Given the description of an element on the screen output the (x, y) to click on. 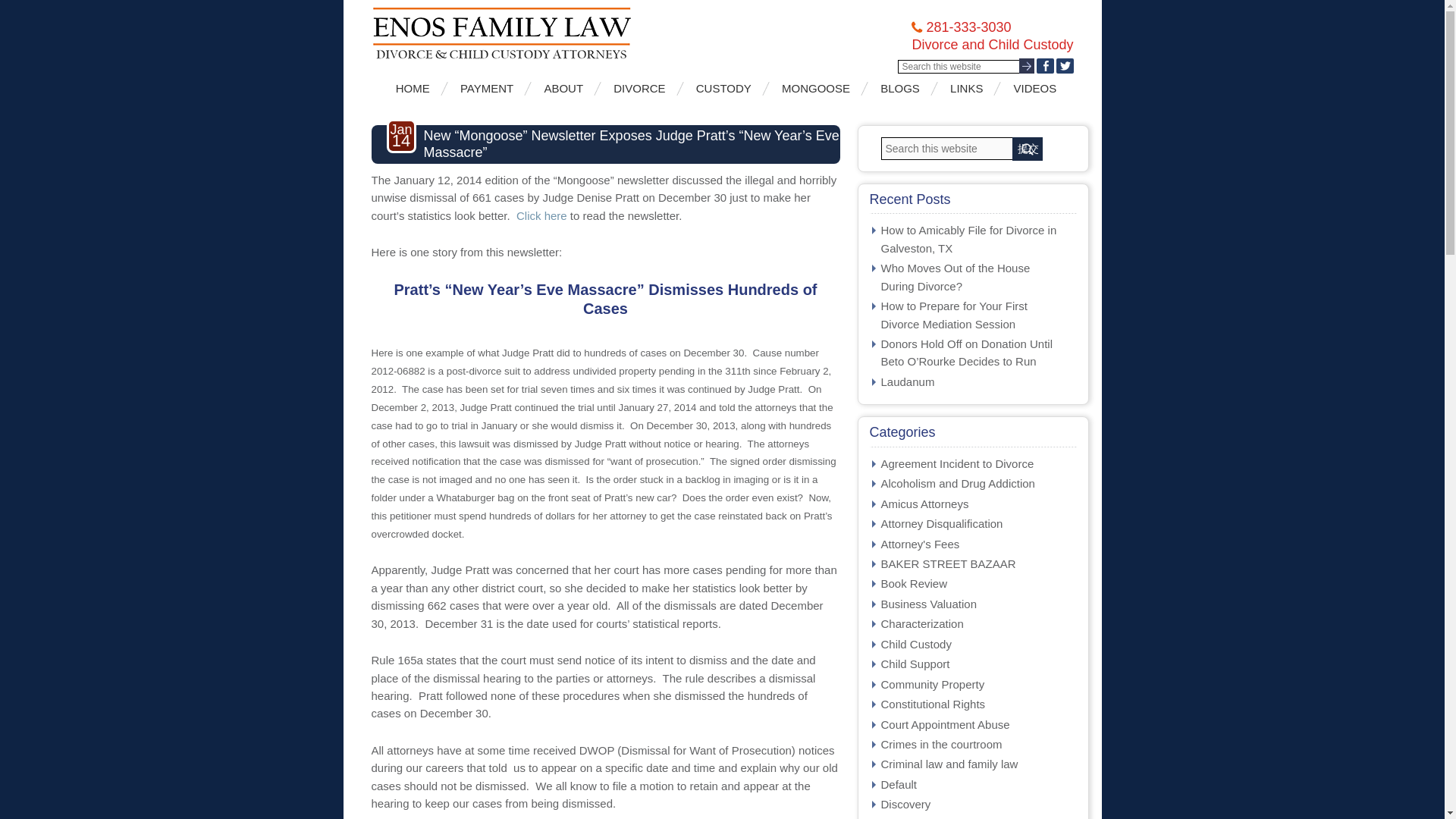
CUSTODY (729, 87)
LINKS (972, 87)
281-333-3030 (968, 27)
Jan 12, 2014 Mongoose (541, 215)
MONGOOSE (821, 87)
PAYMENT (492, 87)
Enos Family Law (545, 33)
ABOUT (568, 87)
Twitter (1064, 65)
Facebook (1043, 65)
BLOGS (905, 87)
HOME (418, 87)
DIVORCE (644, 87)
